Given the description of an element on the screen output the (x, y) to click on. 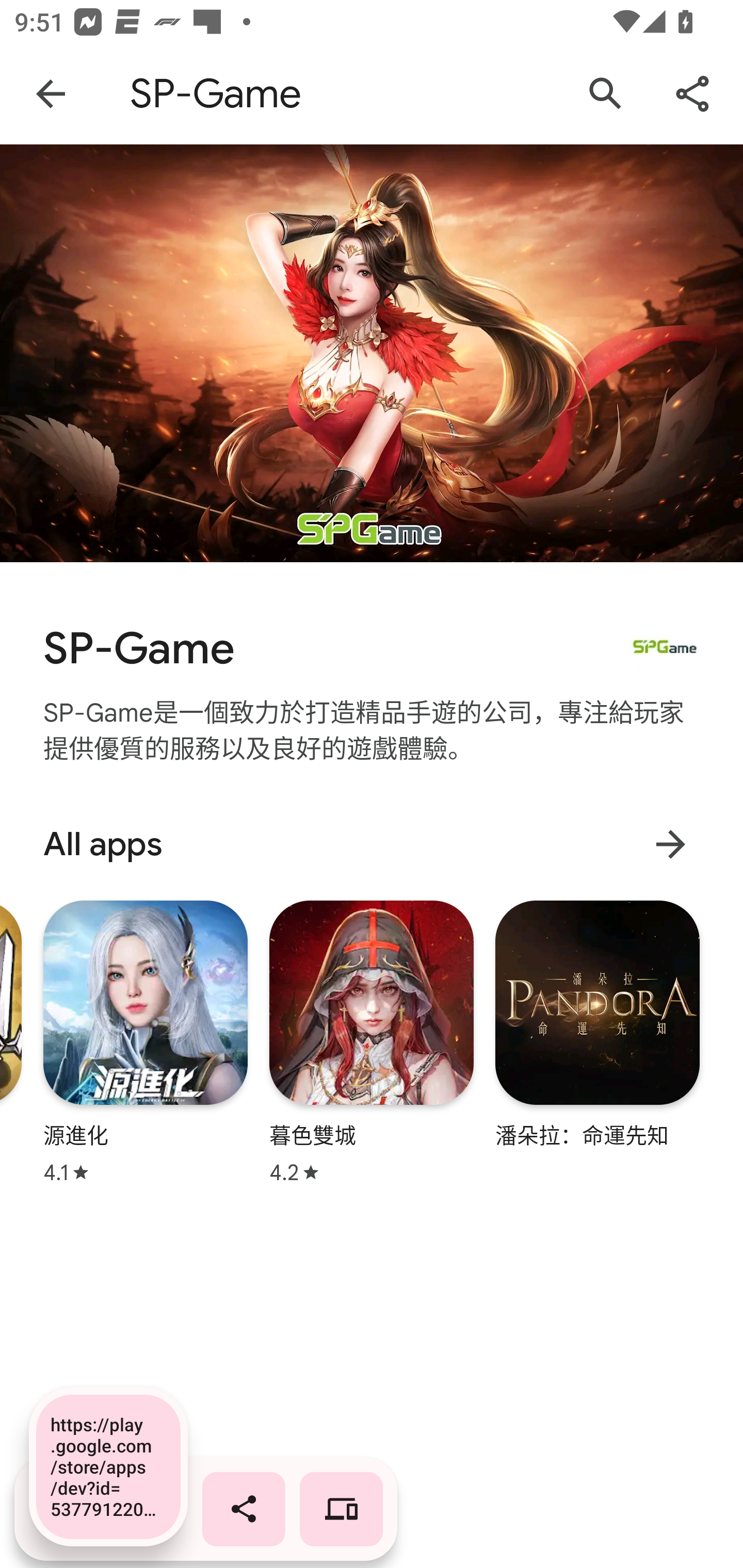
Navigate up (50, 93)
Search Google Play (605, 93)
Share (692, 93)
All apps More results for All apps (371, 844)
More results for All apps (670, 844)
源進化
Star rating: 4.1
 (145, 1041)
暮色雙城
Star rating: 4.2
 (371, 1041)
潘朵拉：命運先知
 (597, 1023)
